Given the description of an element on the screen output the (x, y) to click on. 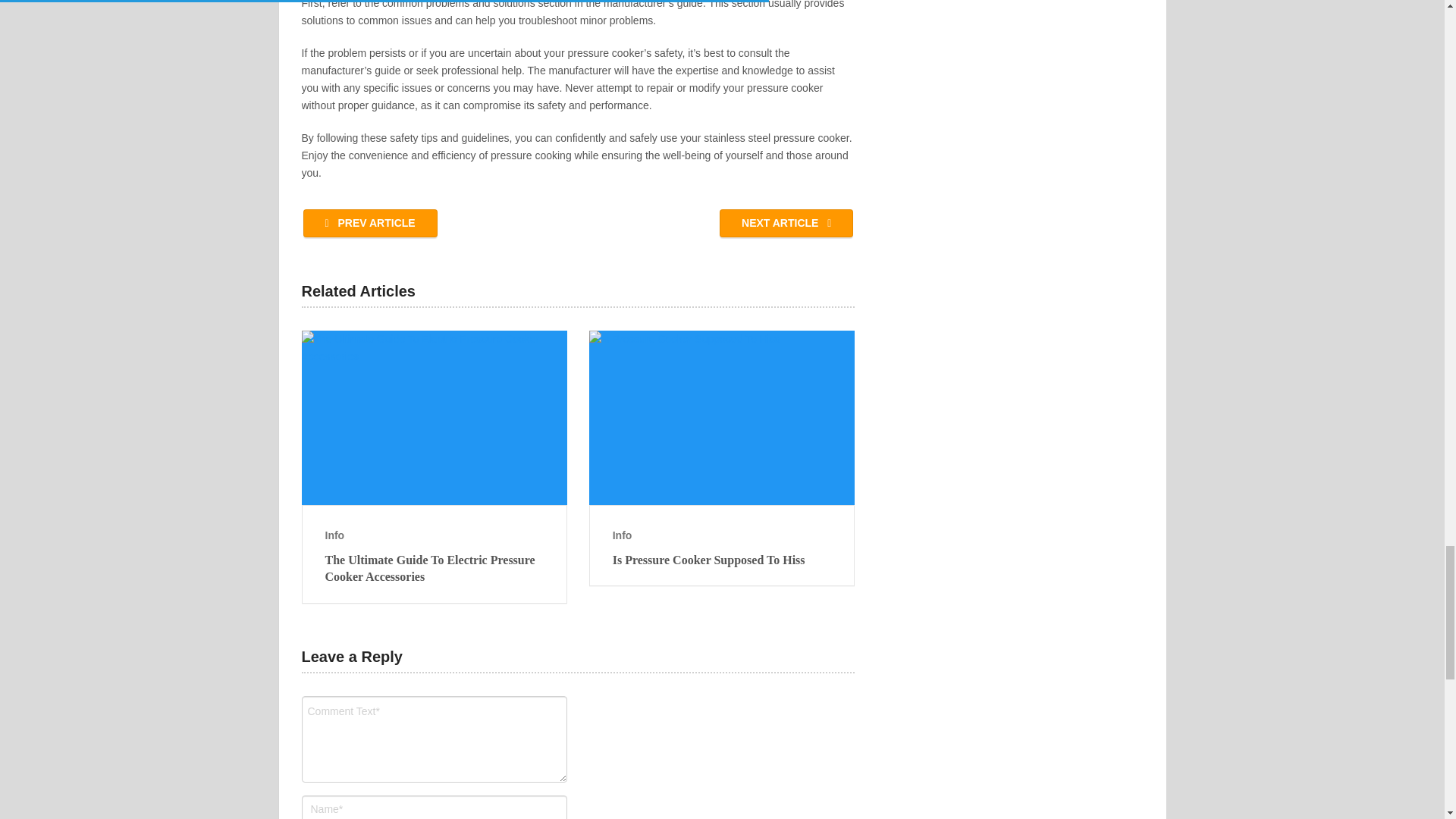
Is Pressure Cooker Supposed To Hiss (721, 560)
View all posts in Info (333, 535)
NEXT ARTICLE (786, 223)
Is Pressure Cooker Supposed To Hiss (721, 417)
The Ultimate Guide To Electric Pressure Cooker Accessories (433, 569)
The Ultimate Guide To Electric Pressure Cooker Accessories (434, 417)
PREV ARTICLE (370, 223)
Info (333, 535)
Info (621, 535)
View all posts in Info (621, 535)
Is Pressure Cooker Supposed To Hiss (721, 560)
The Ultimate Guide To Electric Pressure Cooker Accessories (433, 569)
